Given the description of an element on the screen output the (x, y) to click on. 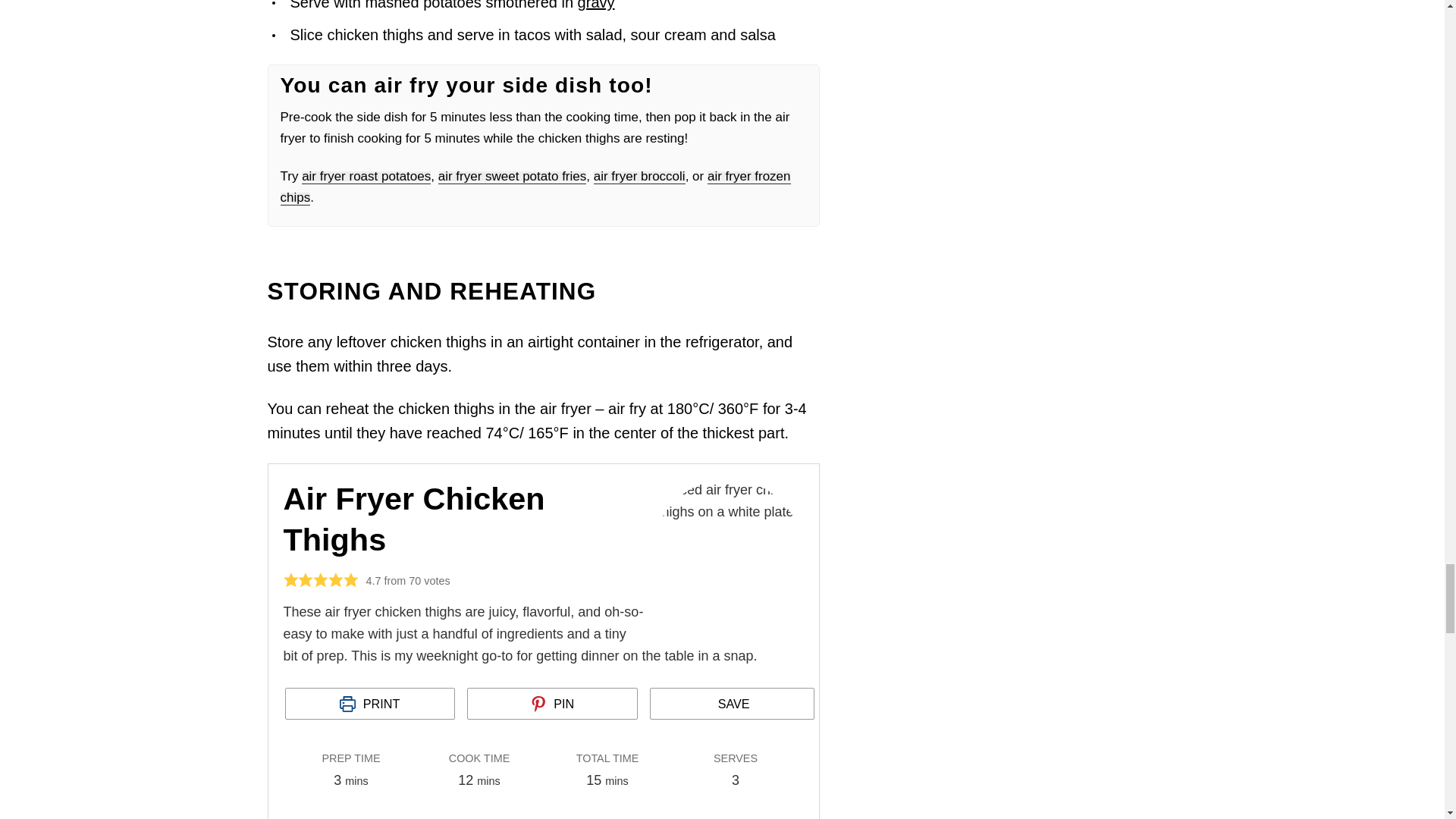
air fryer roast potatoes (365, 175)
air fryer frozen chips (535, 186)
PIN (552, 703)
air fryer broccoli (639, 175)
air fryer sweet potato fries (512, 175)
gravy (596, 5)
PRINT (370, 703)
